Given the description of an element on the screen output the (x, y) to click on. 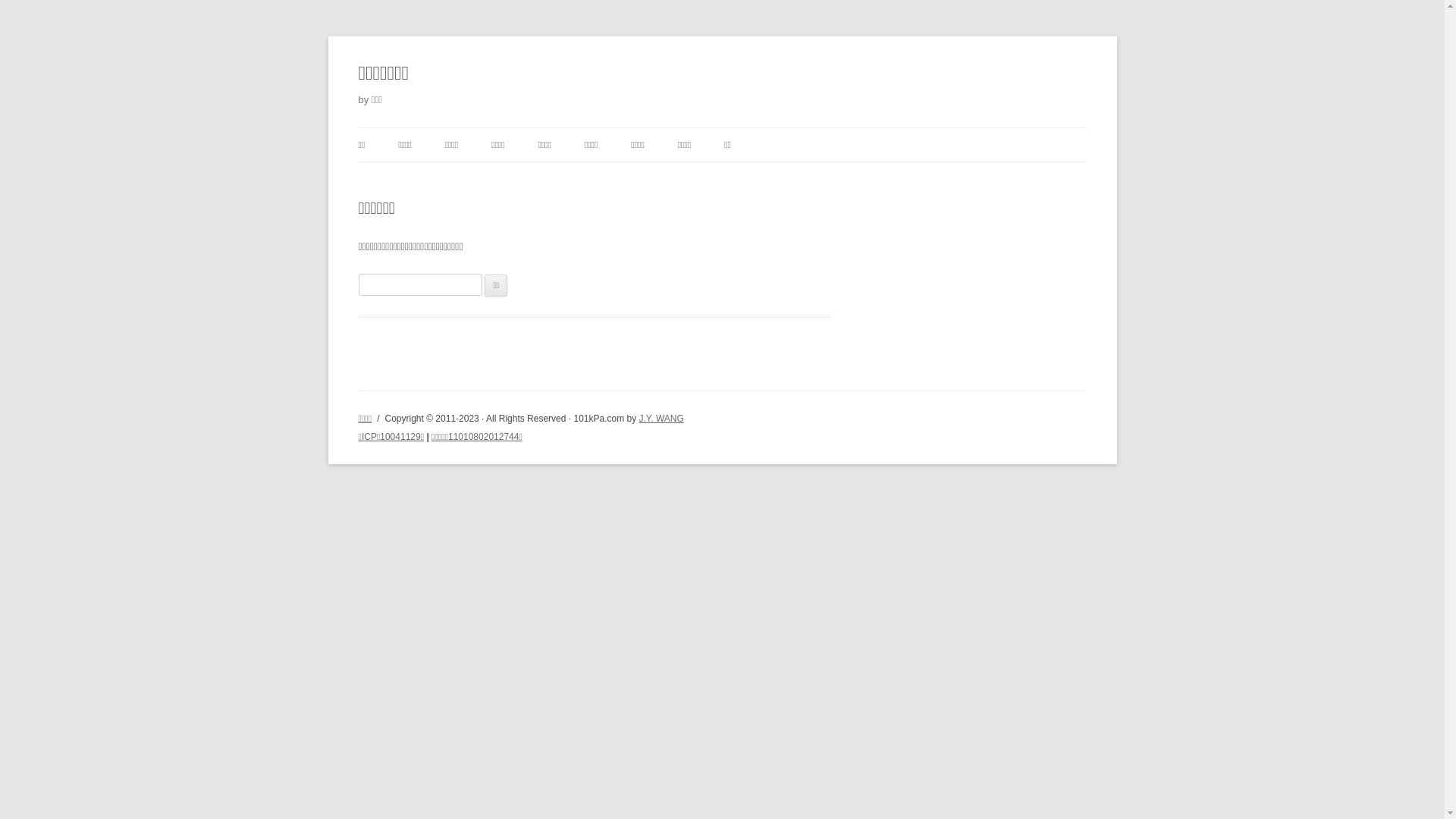
J.Y. WANG Element type: text (661, 418)
